Given the description of an element on the screen output the (x, y) to click on. 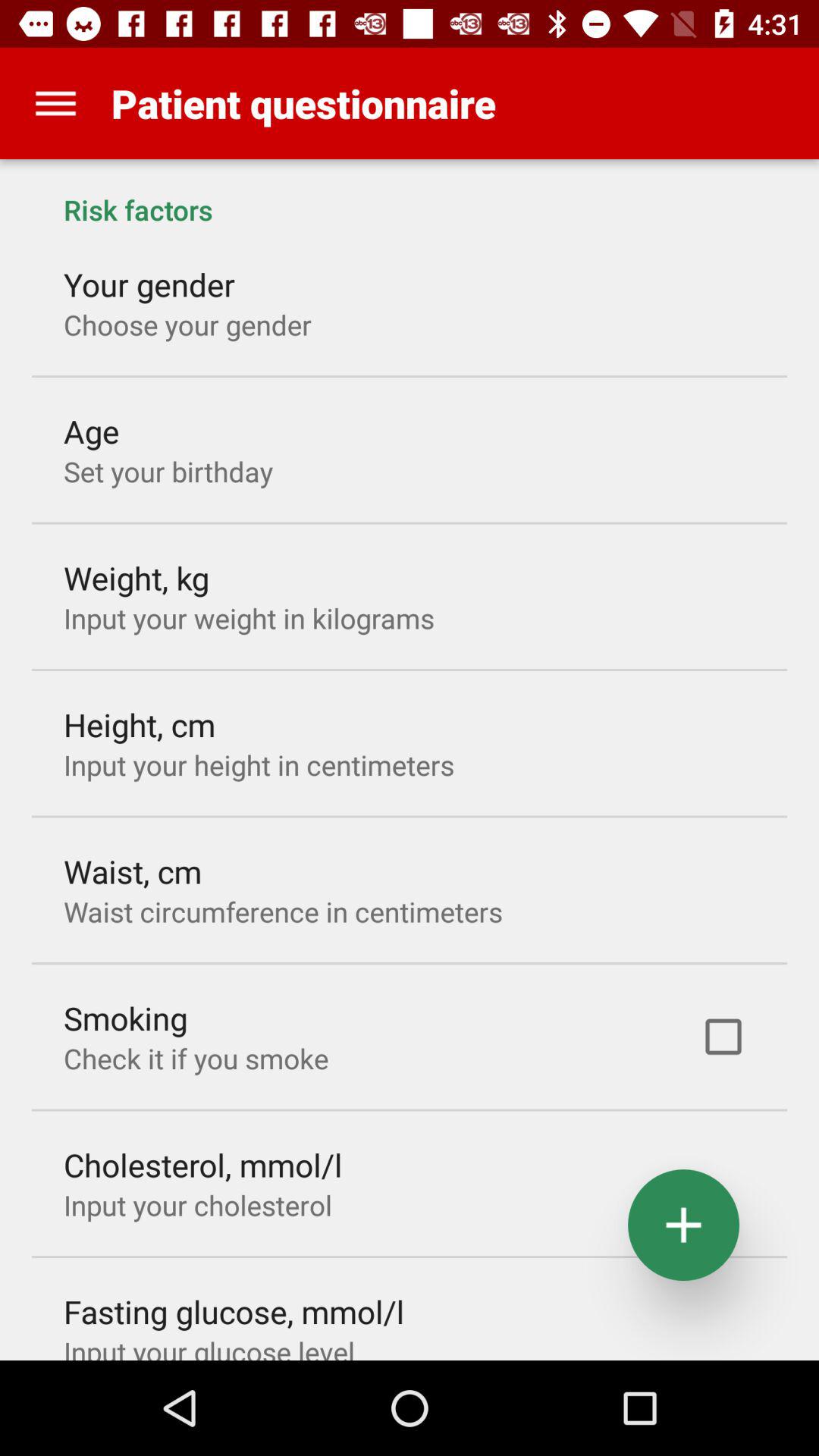
turn on the icon at the center (282, 911)
